Given the description of an element on the screen output the (x, y) to click on. 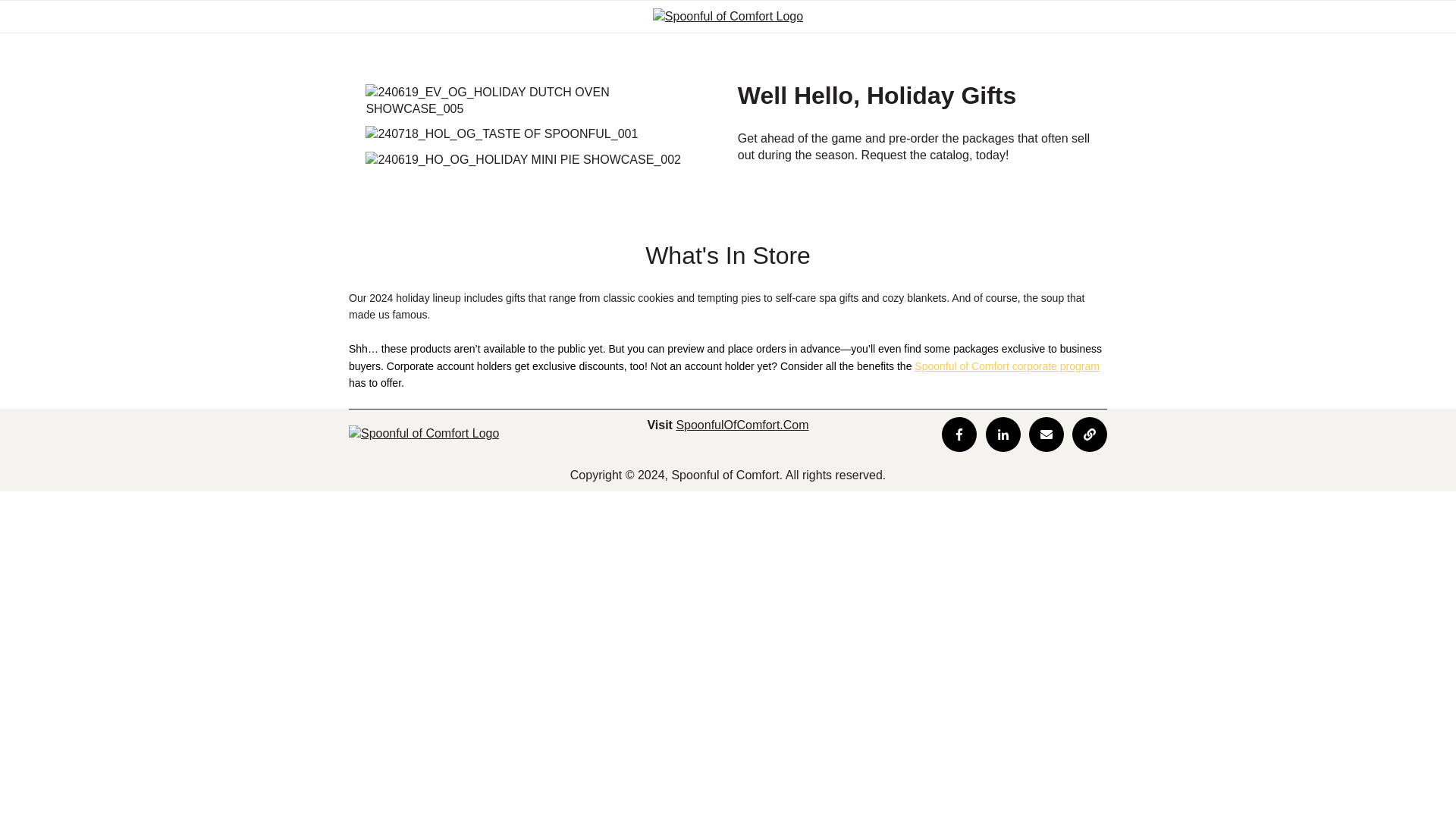
Spoonful of Comfort corporate program (1006, 365)
Spoonful of Comfort Logo (424, 433)
Spoonful of Comfort Logo (727, 16)
SpoonfulOfComfort.Com (741, 424)
